Given the description of an element on the screen output the (x, y) to click on. 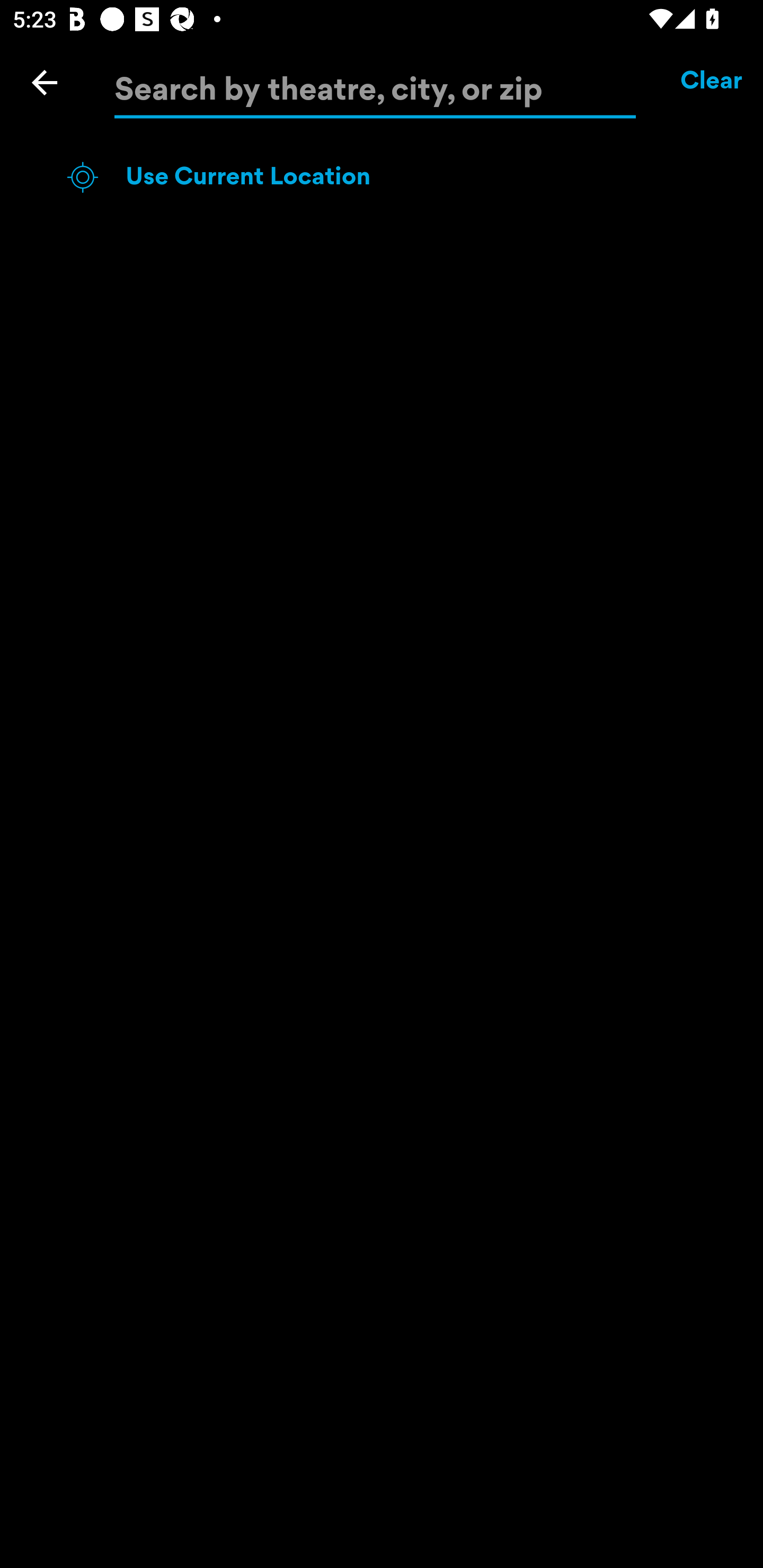
Back (44, 82)
Clear (712, 82)
Use Current Location (413, 177)
